Given the description of an element on the screen output the (x, y) to click on. 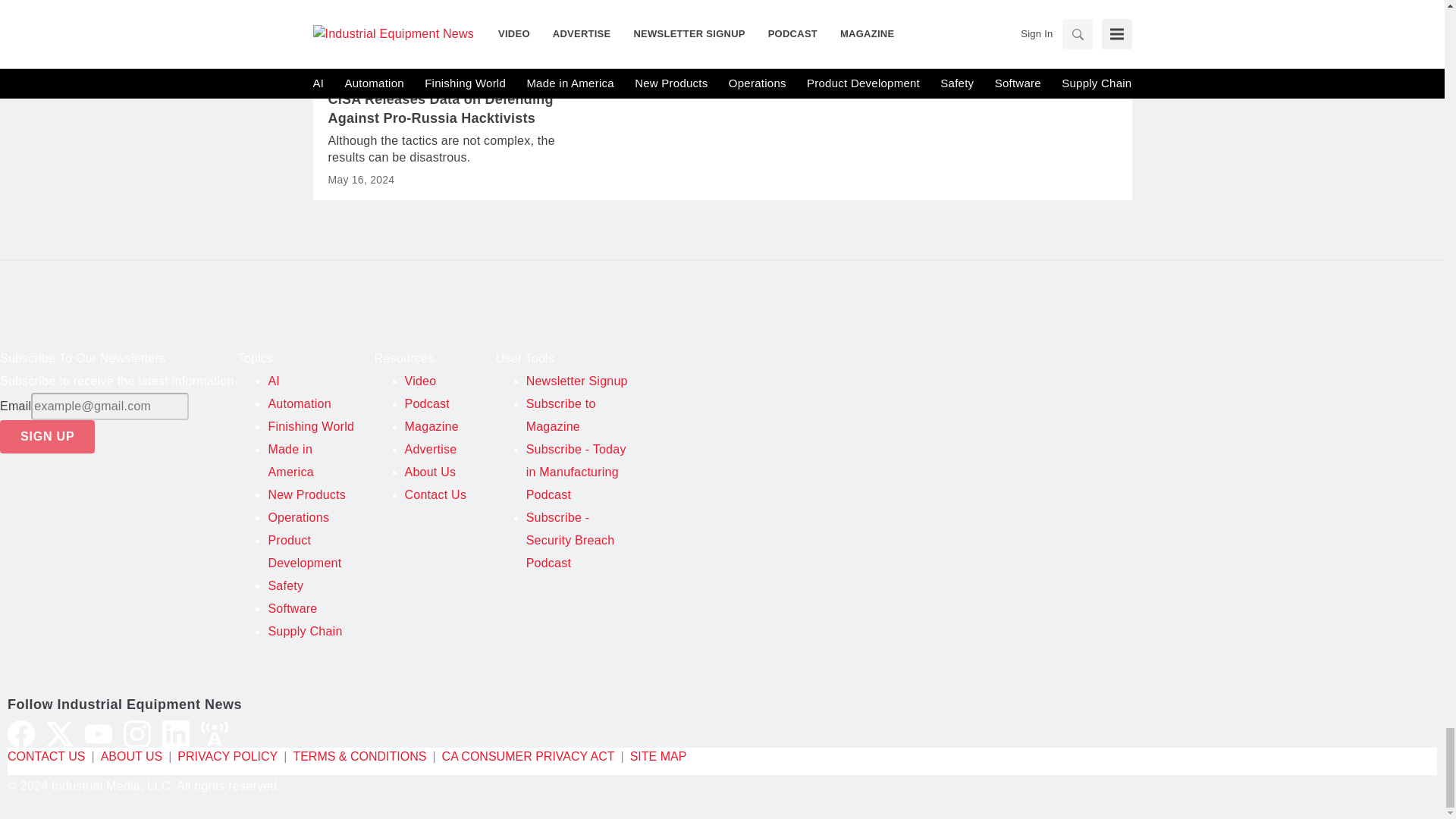
Instagram icon (137, 733)
Facebook icon (20, 733)
LinkedIn icon (175, 733)
YouTube icon (98, 733)
Twitter X icon (60, 733)
